Given the description of an element on the screen output the (x, y) to click on. 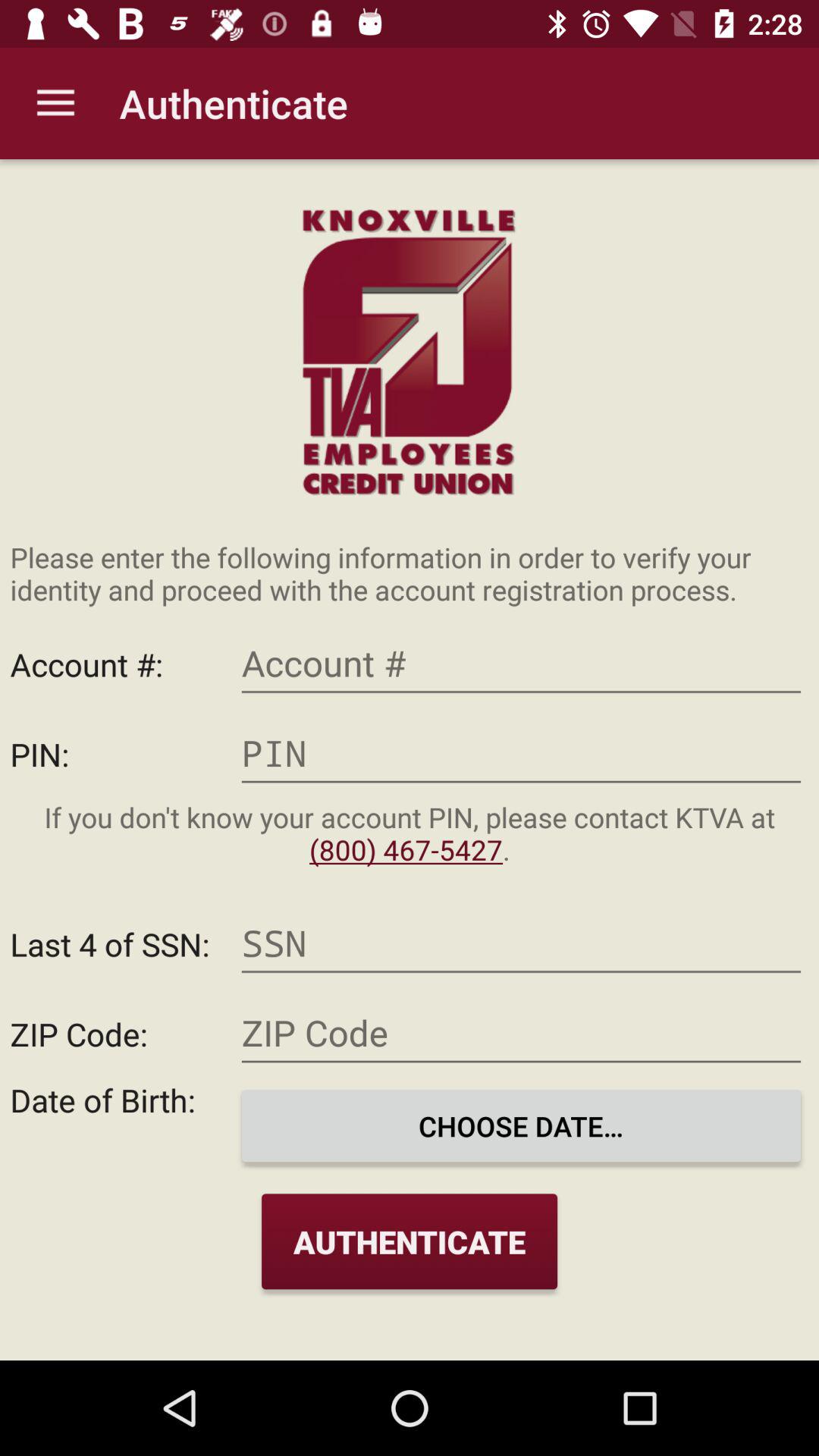
social security number input (520, 943)
